Given the description of an element on the screen output the (x, y) to click on. 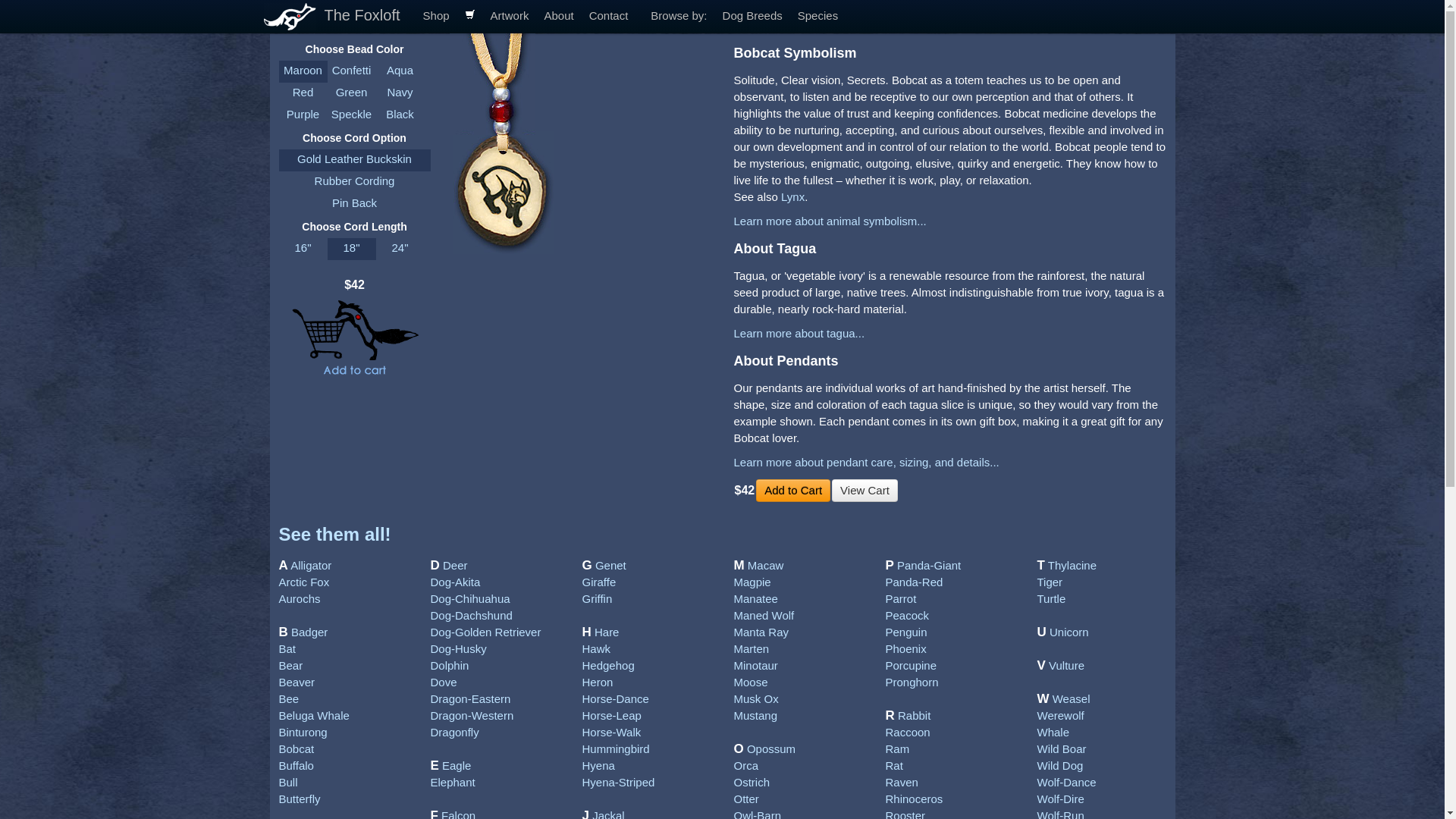
Artwork (510, 16)
Purple (303, 115)
16" (303, 249)
Learn more about animal symbolism... (829, 220)
Red (303, 93)
Green (351, 93)
Bee (289, 698)
18" (351, 249)
Pin Back (354, 204)
Confetti (351, 71)
add to cart (354, 339)
Learn more about tagua... (798, 332)
Add to Cart (792, 490)
Species (817, 16)
Browse by: (678, 16)
